Given the description of an element on the screen output the (x, y) to click on. 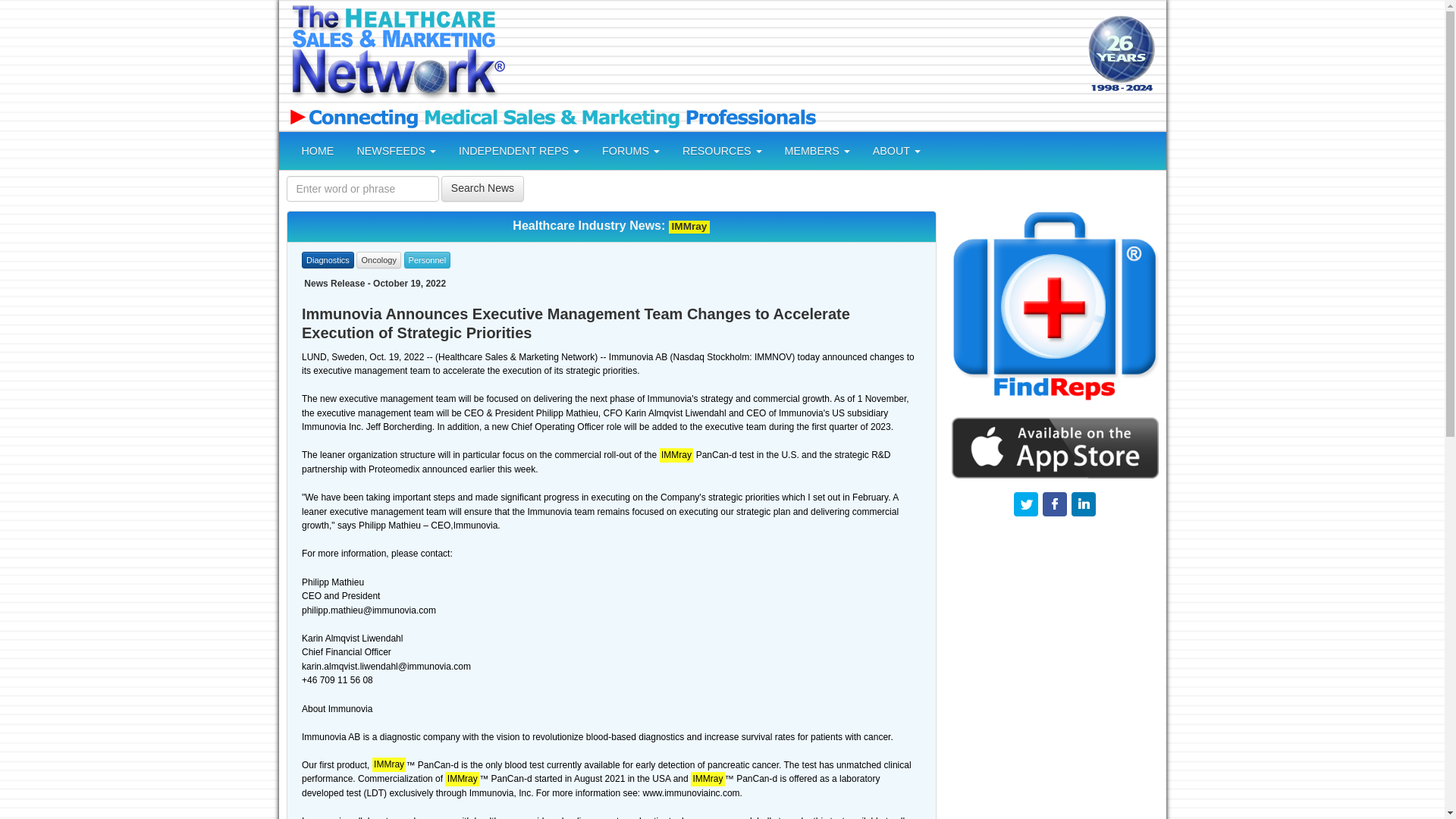
Advertisement (794, 55)
FORUMS  (631, 150)
NEWSFEEDS  (395, 150)
Search News (482, 188)
RESOURCES  (722, 150)
HOME (317, 150)
INDEPENDENT REPS  (518, 150)
